Given the description of an element on the screen output the (x, y) to click on. 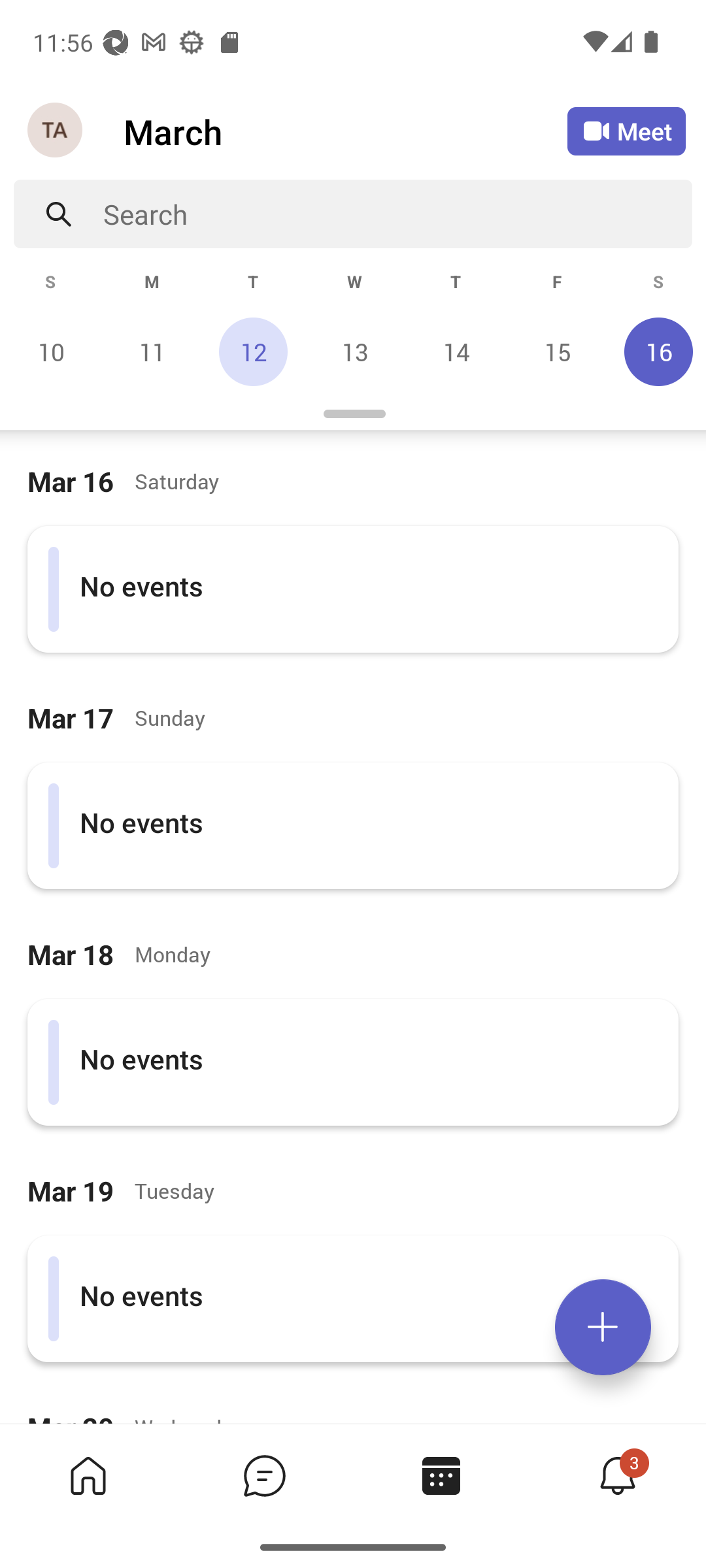
Navigation (56, 130)
Meet Meet now or join with an ID (626, 130)
March March Calendar Agenda View (345, 131)
Search (397, 213)
Sunday, March 10 10 (50, 351)
Monday, March 11 11 (151, 351)
Tuesday, March 12, Today 12 (253, 351)
Wednesday, March 13 13 (354, 351)
Thursday, March 14 14 (455, 351)
Friday, March 15 15 (556, 351)
Saturday, March 16, Selected 16 (656, 351)
Expand meetings menu (602, 1327)
Home tab,1 of 4, not selected (88, 1475)
Chat tab,2 of 4, not selected (264, 1475)
Calendar tab, 3 of 4 (441, 1475)
Activity tab,4 of 4, not selected, 3 new 3 (617, 1475)
